Given the description of an element on the screen output the (x, y) to click on. 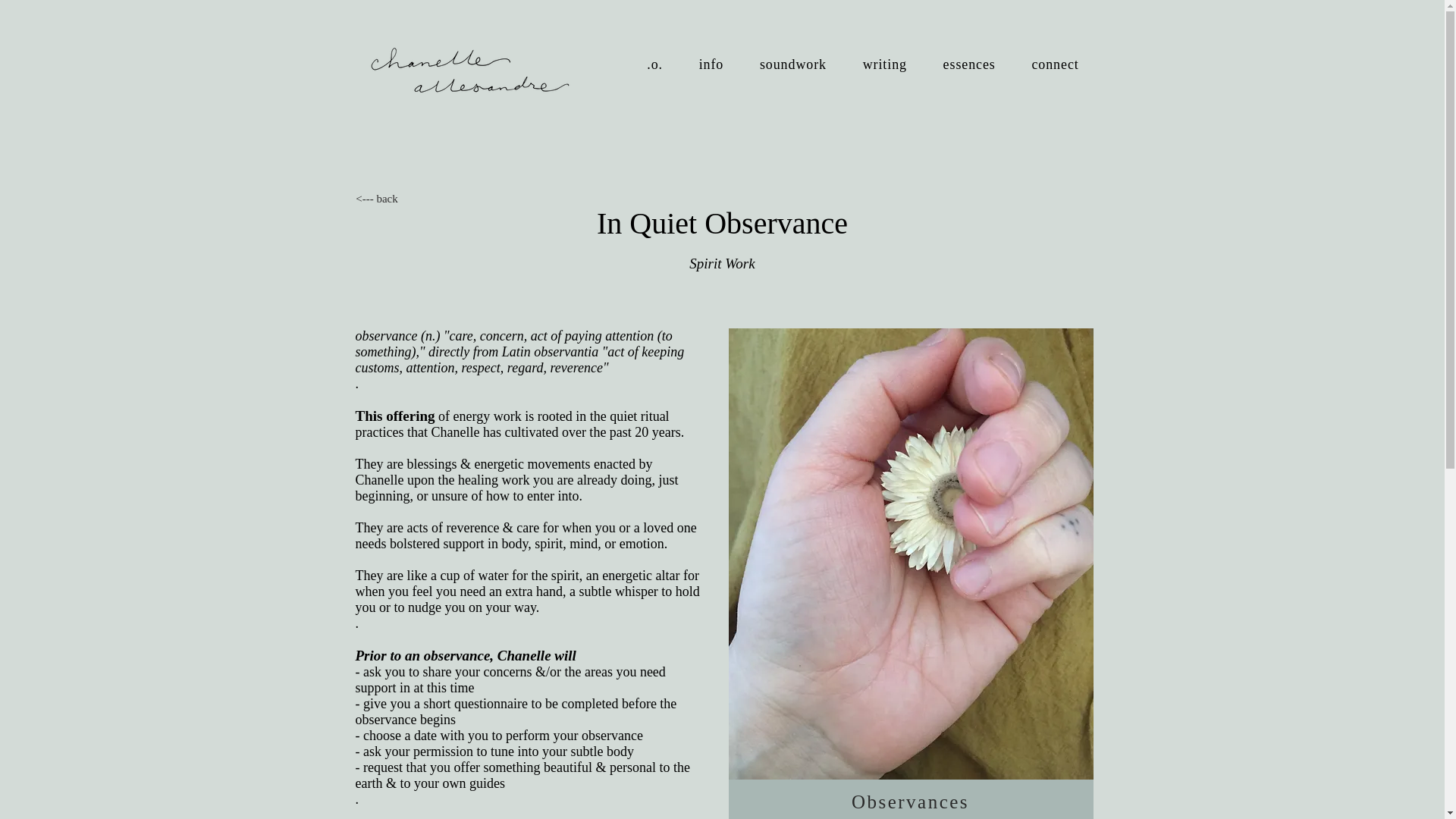
connect (1055, 64)
essences (969, 64)
.o. (654, 64)
info (711, 64)
soundwork (792, 64)
writing (884, 64)
